Given the description of an element on the screen output the (x, y) to click on. 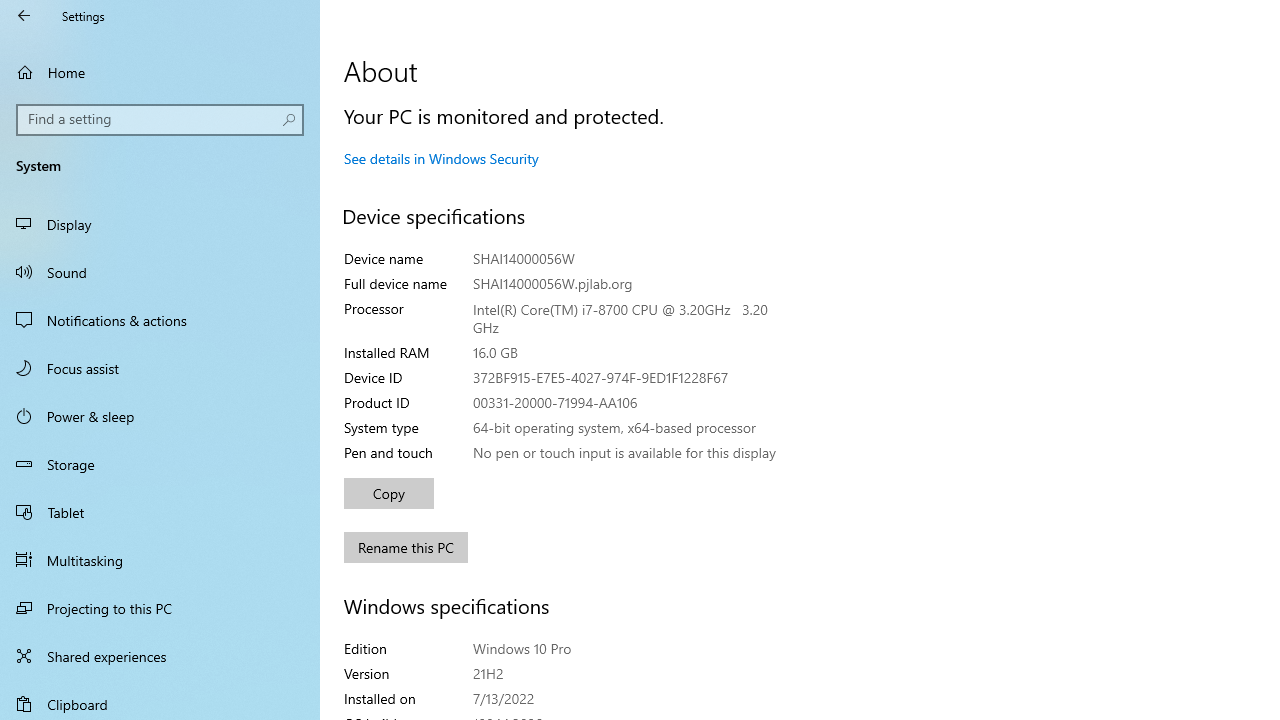
Sound (160, 271)
